Given the description of an element on the screen output the (x, y) to click on. 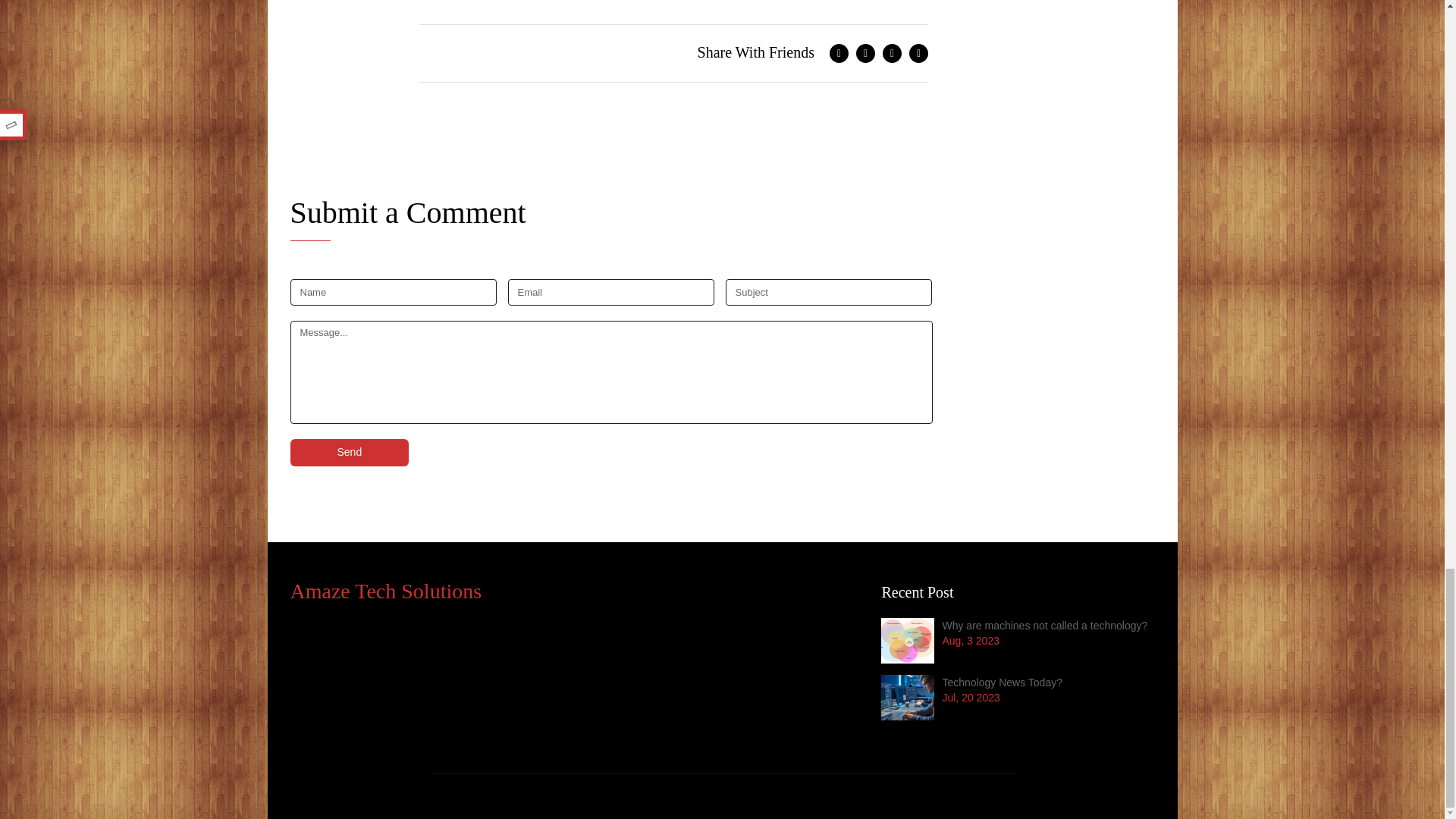
Send (349, 452)
